Given the description of an element on the screen output the (x, y) to click on. 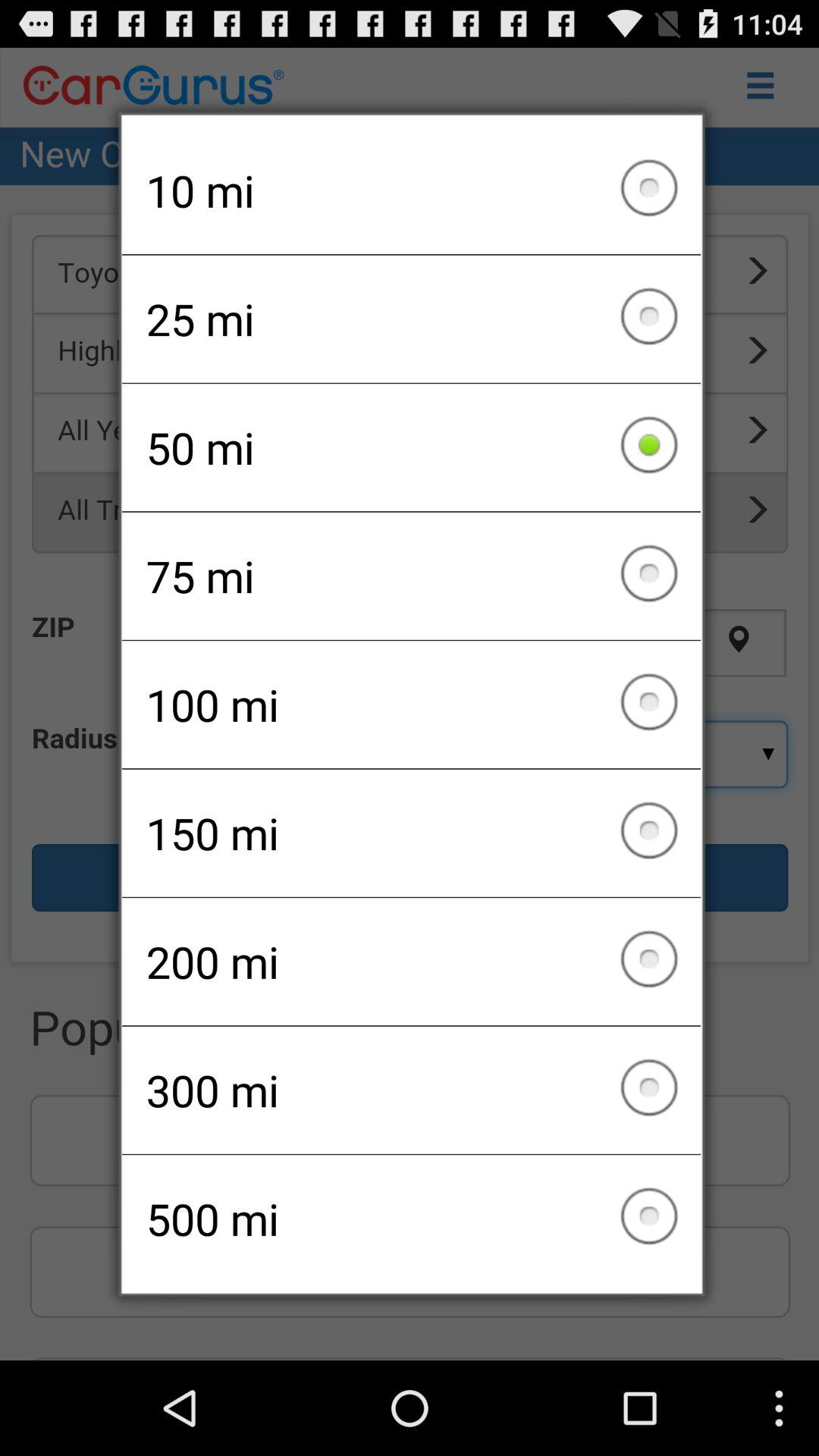
press the 150 mi checkbox (411, 832)
